Given the description of an element on the screen output the (x, y) to click on. 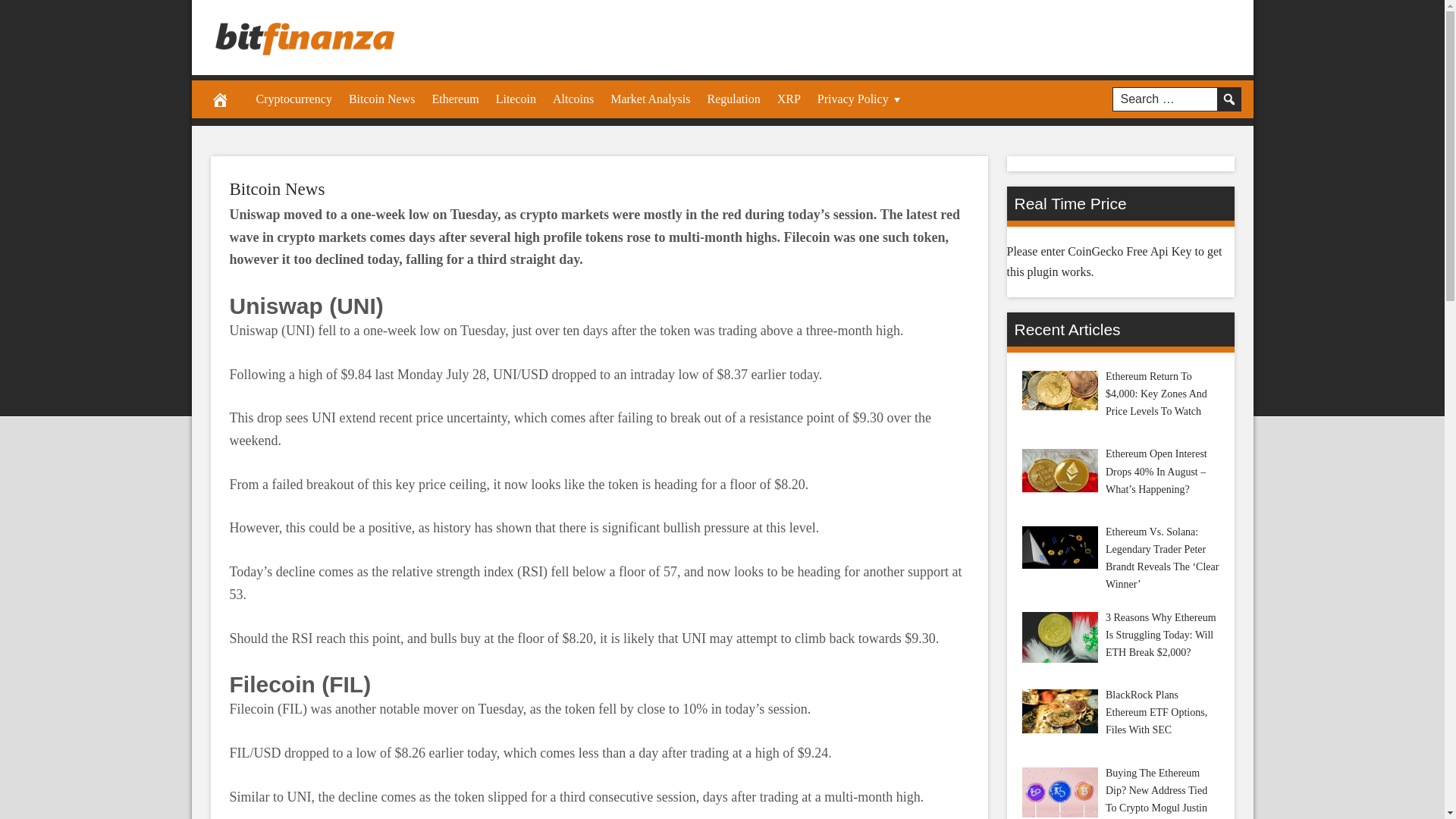
Regulation (733, 98)
Cryptocurrency (293, 98)
Bitcoin News (381, 98)
Ethereum (454, 98)
Privacy Policy (860, 98)
Bitcoin News (276, 189)
Altcoins (573, 98)
Litecoin (515, 98)
XRP (788, 98)
